Given the description of an element on the screen output the (x, y) to click on. 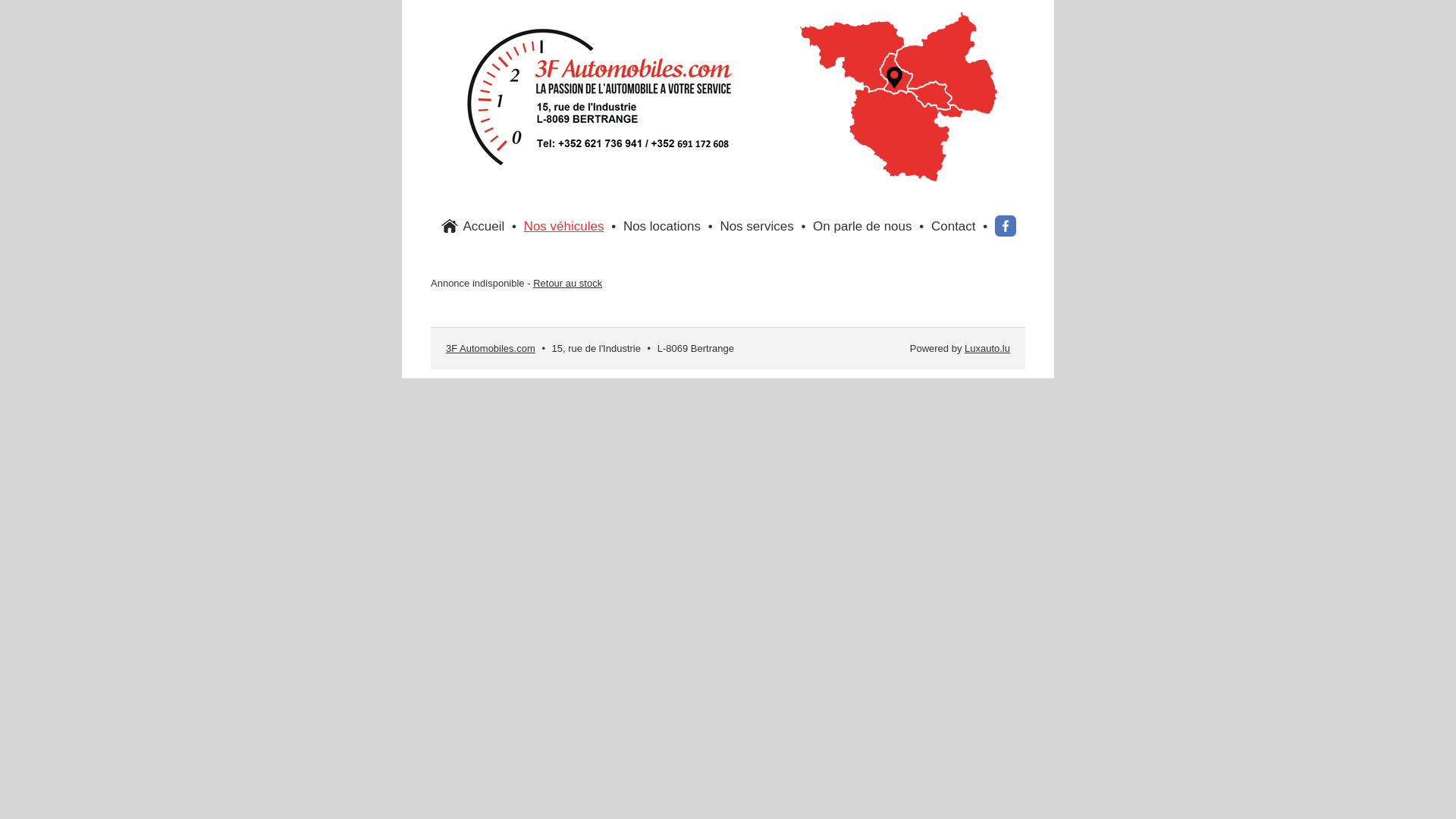
Nos locations Element type: text (661, 226)
3F Automobiles.com Element type: text (490, 348)
Retour au stock Element type: text (567, 282)
On parle de nous Element type: text (861, 226)
Nos services Element type: text (756, 226)
Contact Element type: text (953, 226)
Accueil Element type: text (483, 226)
Luxauto.lu Element type: text (987, 348)
